Given the description of an element on the screen output the (x, y) to click on. 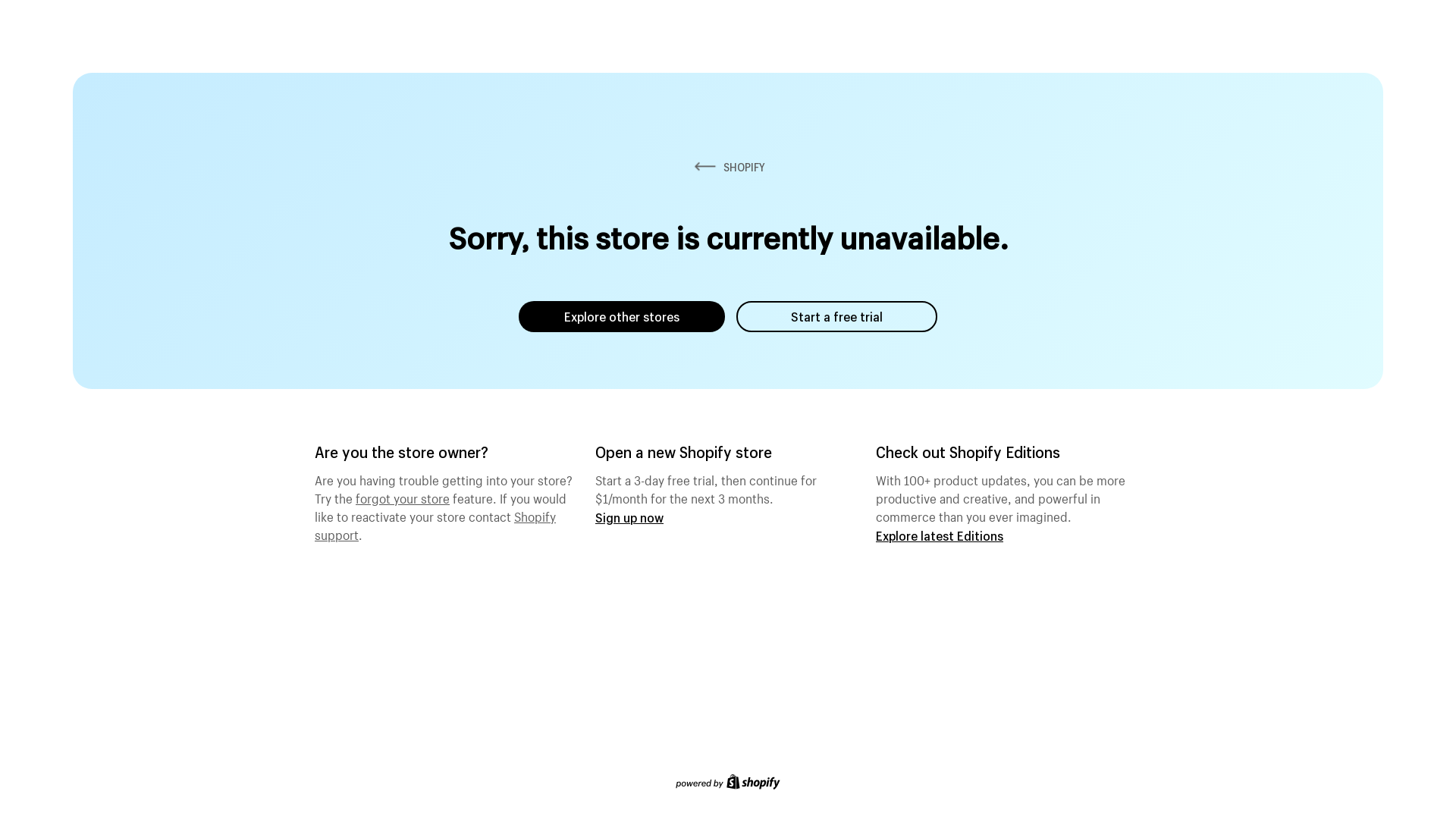
forgot your store Element type: text (402, 496)
Explore other stores Element type: text (621, 316)
Shopify support Element type: text (434, 523)
SHOPIFY Element type: text (727, 167)
Start a free trial Element type: text (836, 316)
Explore latest Editions Element type: text (939, 535)
Sign up now Element type: text (629, 517)
